Given the description of an element on the screen output the (x, y) to click on. 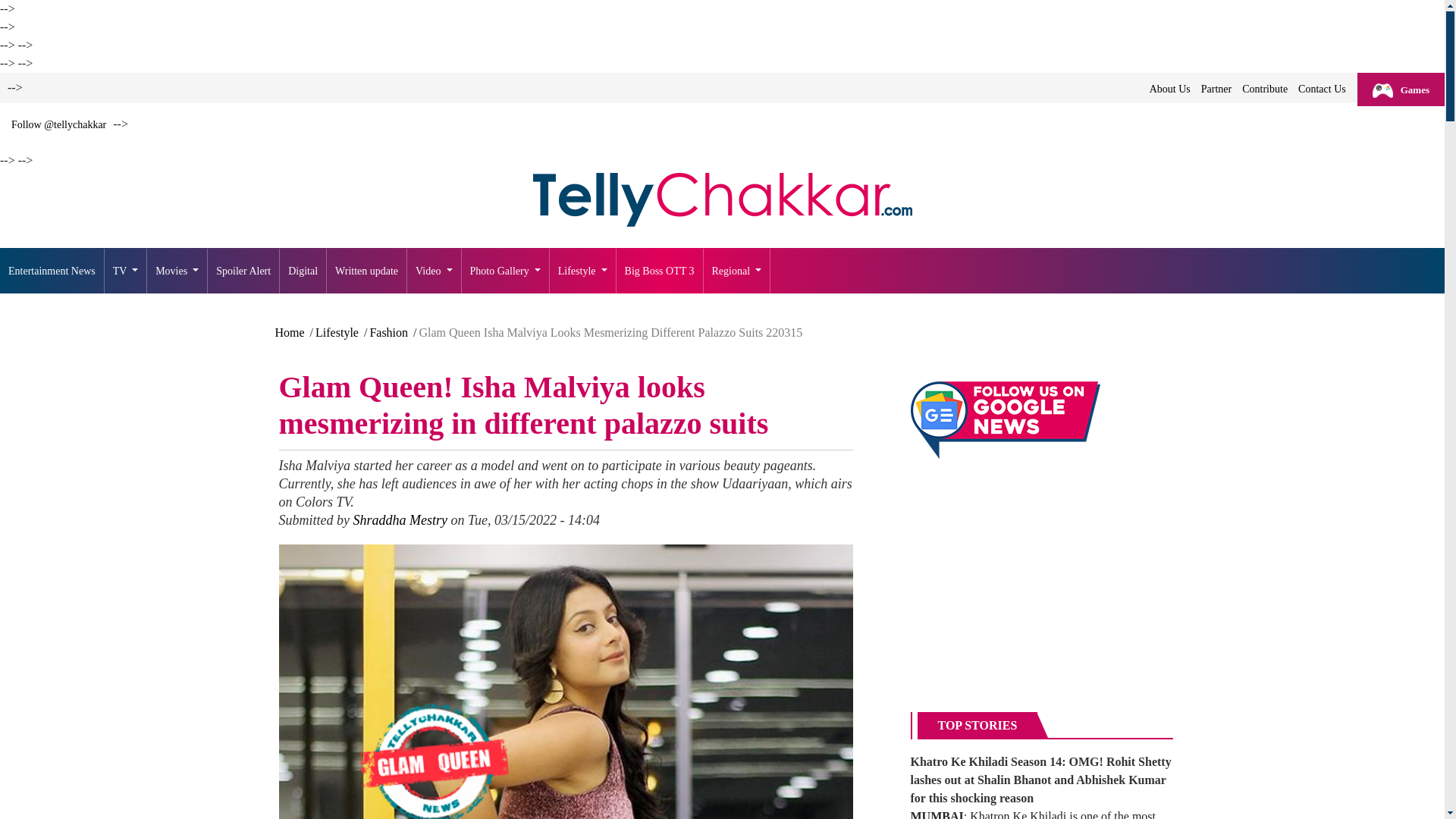
Lifestyle (582, 270)
Home (721, 199)
Return to the front Page (52, 270)
Games (1400, 89)
Contribute (1265, 89)
Movies (177, 270)
Partner (1215, 89)
Photo Gallery (505, 270)
Video (434, 270)
Spoiler Alert (243, 270)
